Given the description of an element on the screen output the (x, y) to click on. 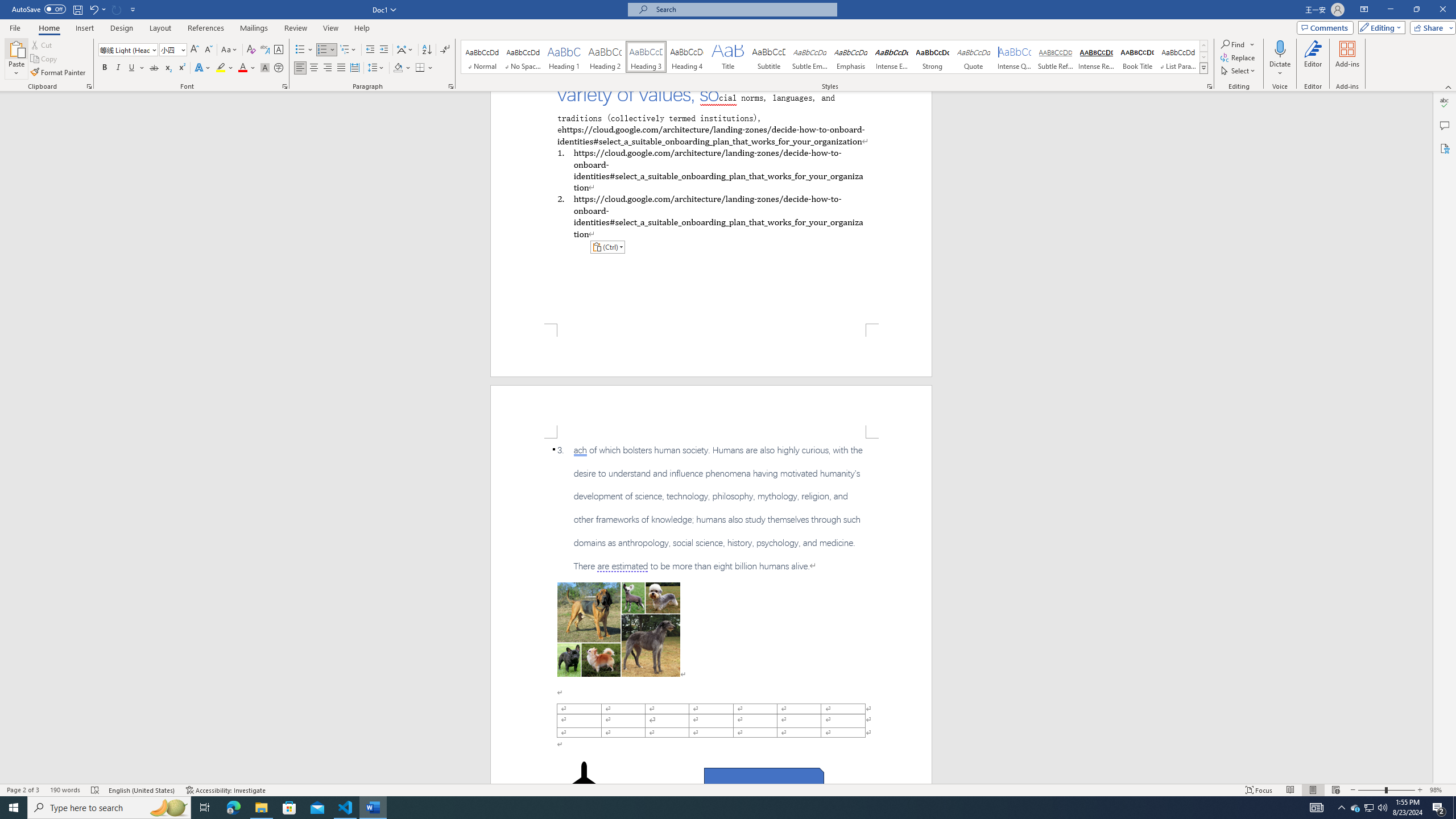
Character Border (278, 49)
Justify (340, 67)
Phonetic Guide... (264, 49)
Emphasis (849, 56)
Text Highlight Color Yellow (220, 67)
Strikethrough (154, 67)
Undo Paste (92, 9)
Page 1 content (710, 207)
